Given the description of an element on the screen output the (x, y) to click on. 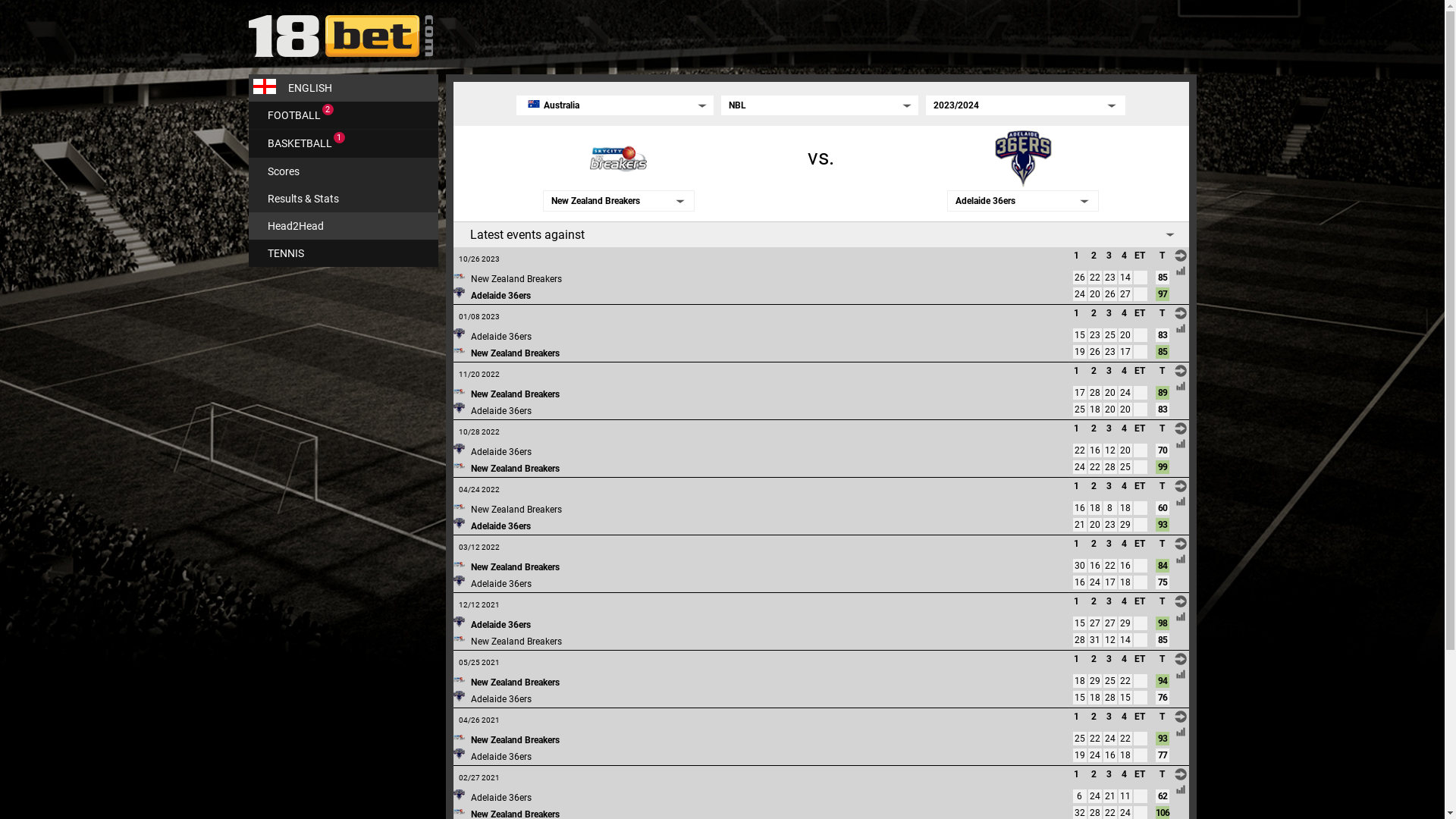
Adelaide 36ers Element type: text (500, 583)
Adelaide 36ers Element type: text (500, 698)
Adelaide 36ers Element type: text (500, 624)
Adelaide 36ers Element type: text (500, 451)
Adelaide 36ers Element type: text (500, 797)
Adelaide 36ers Element type: text (500, 410)
Adelaide 36ers Element type: text (500, 525)
Adelaide 36ers Element type: text (500, 295)
Scores Element type: text (343, 171)
New Zealand Breakers Element type: text (514, 394)
Adelaide 36ers Element type: text (500, 756)
FOOTBALL
2 Element type: text (343, 115)
New Zealand Breakers Element type: text (515, 278)
TENNIS Element type: text (343, 252)
New Zealand Breakers Element type: text (515, 509)
New Zealand Breakers Element type: text (514, 739)
Adelaide 36ers Element type: text (500, 336)
New Zealand Breakers Element type: text (514, 353)
New Zealand Breakers Element type: text (515, 641)
Results & Stats Element type: text (343, 198)
New Zealand Breakers Element type: text (514, 468)
BASKETBALL
1 Element type: text (343, 143)
New Zealand Breakers Element type: text (514, 566)
Head2Head Element type: text (343, 225)
New Zealand Breakers Element type: text (514, 682)
